Given the description of an element on the screen output the (x, y) to click on. 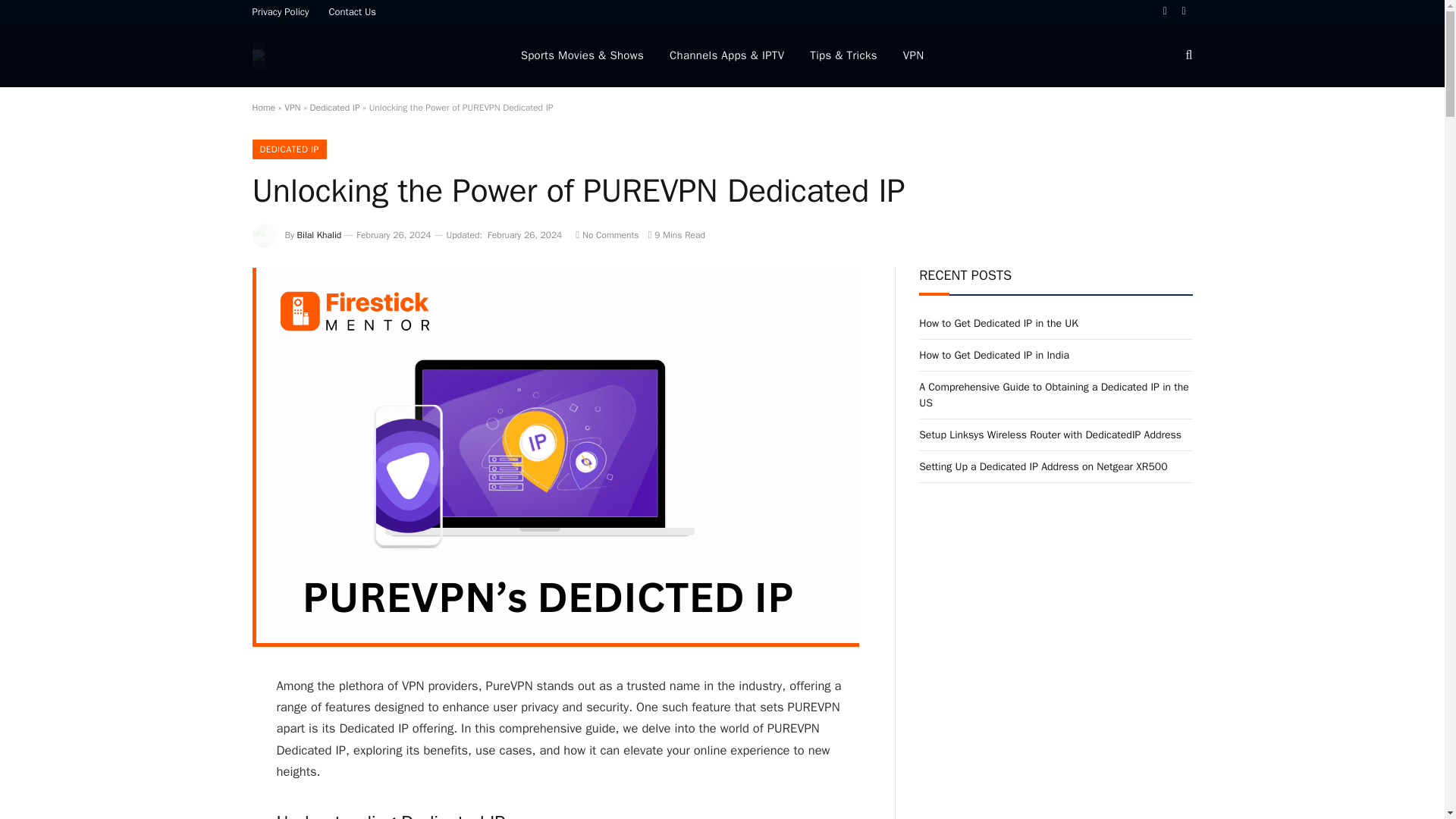
VPN (291, 107)
DEDICATED IP (288, 148)
Posts by Bilal Khalid (319, 234)
Unlocking the Power of PUREVPN Dedicated IP (555, 643)
Bilal Khalid (319, 234)
Firestick Mentor (266, 53)
No Comments (607, 234)
Contact Us (352, 11)
Home (263, 107)
Dedicated IP (334, 107)
Privacy Policy (280, 11)
